Given the description of an element on the screen output the (x, y) to click on. 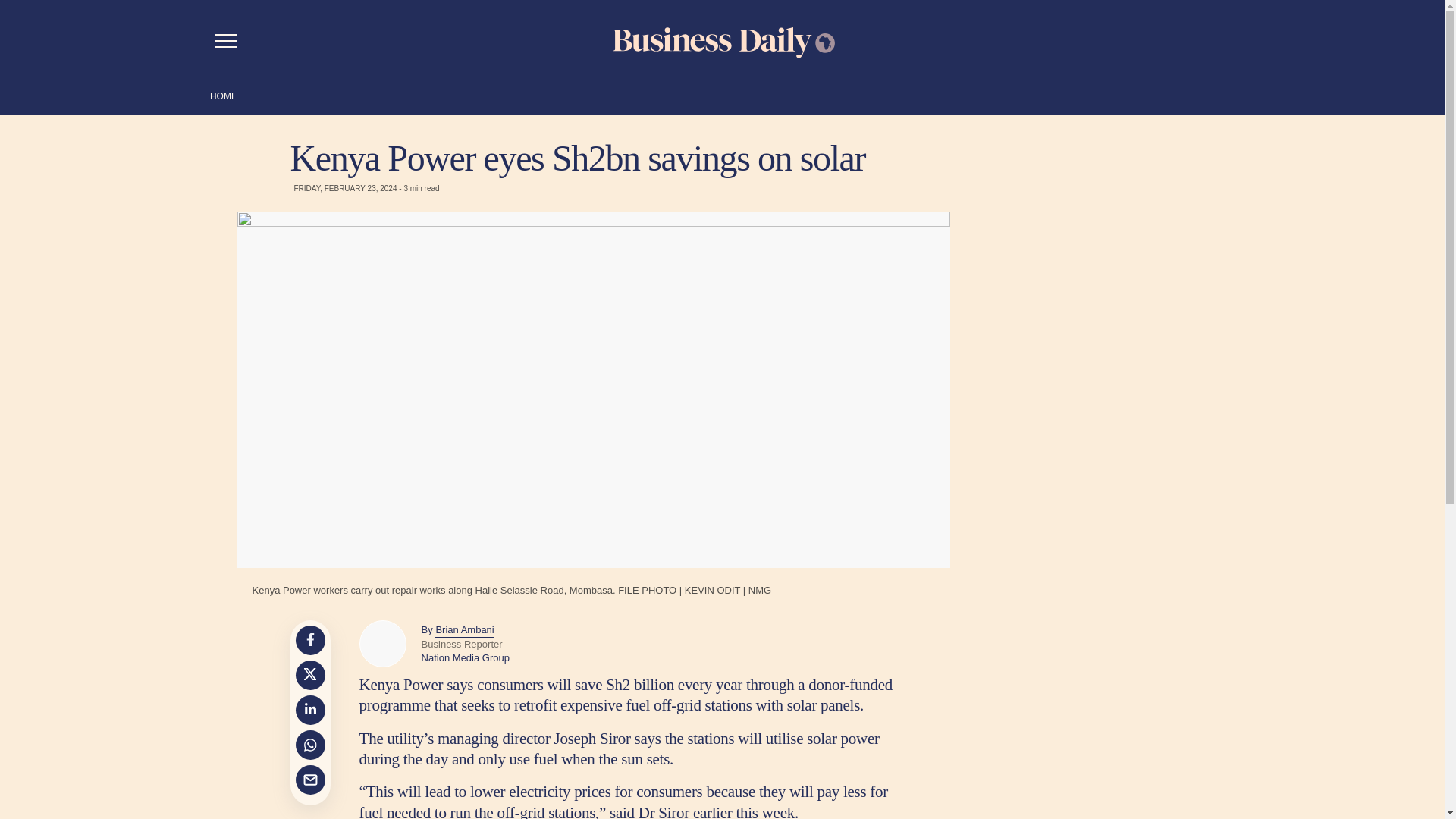
HOME (223, 95)
